Given the description of an element on the screen output the (x, y) to click on. 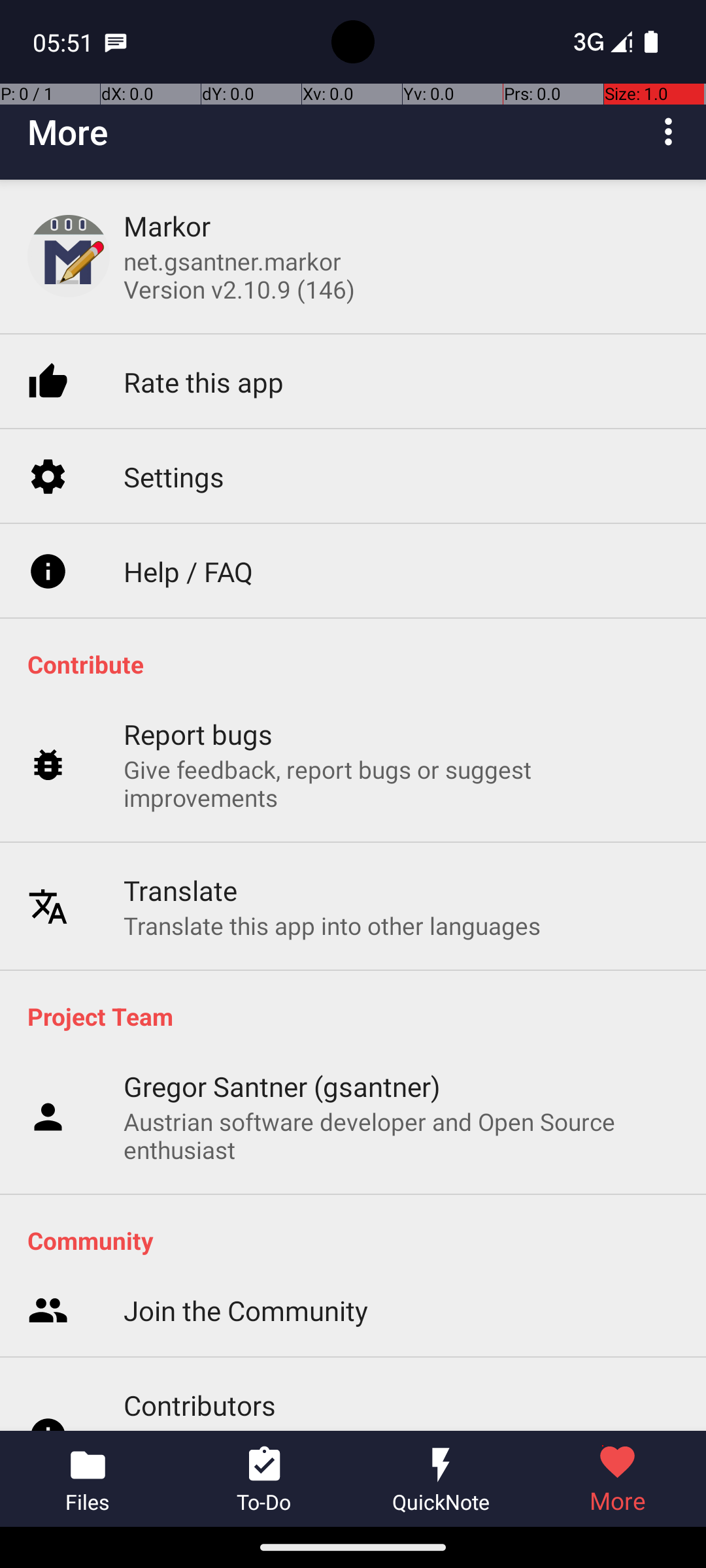
Contribute Element type: android.widget.TextView (359, 663)
Project Team Element type: android.widget.TextView (359, 1015)
Community Element type: android.widget.TextView (359, 1240)
net.gsantner.markor
Version v2.10.9 (146) Element type: android.widget.TextView (239, 274)
Rate this app Element type: android.widget.TextView (203, 381)
Help / FAQ Element type: android.widget.TextView (188, 570)
Report bugs Element type: android.widget.TextView (198, 733)
Give feedback, report bugs or suggest improvements Element type: android.widget.TextView (400, 783)
Translate Element type: android.widget.TextView (180, 889)
Translate this app into other languages Element type: android.widget.TextView (331, 925)
Gregor Santner (gsantner) Element type: android.widget.TextView (281, 1085)
Austrian software developer and Open Source enthusiast Element type: android.widget.TextView (400, 1135)
Join the Community Element type: android.widget.TextView (245, 1309)
Contributors Element type: android.widget.TextView (199, 1404)
Show contributor info. Provide it to be shown here on an opt-in basis after contributing Element type: android.widget.TextView (400, 1426)
05:51 Element type: android.widget.TextView (64, 41)
